Given the description of an element on the screen output the (x, y) to click on. 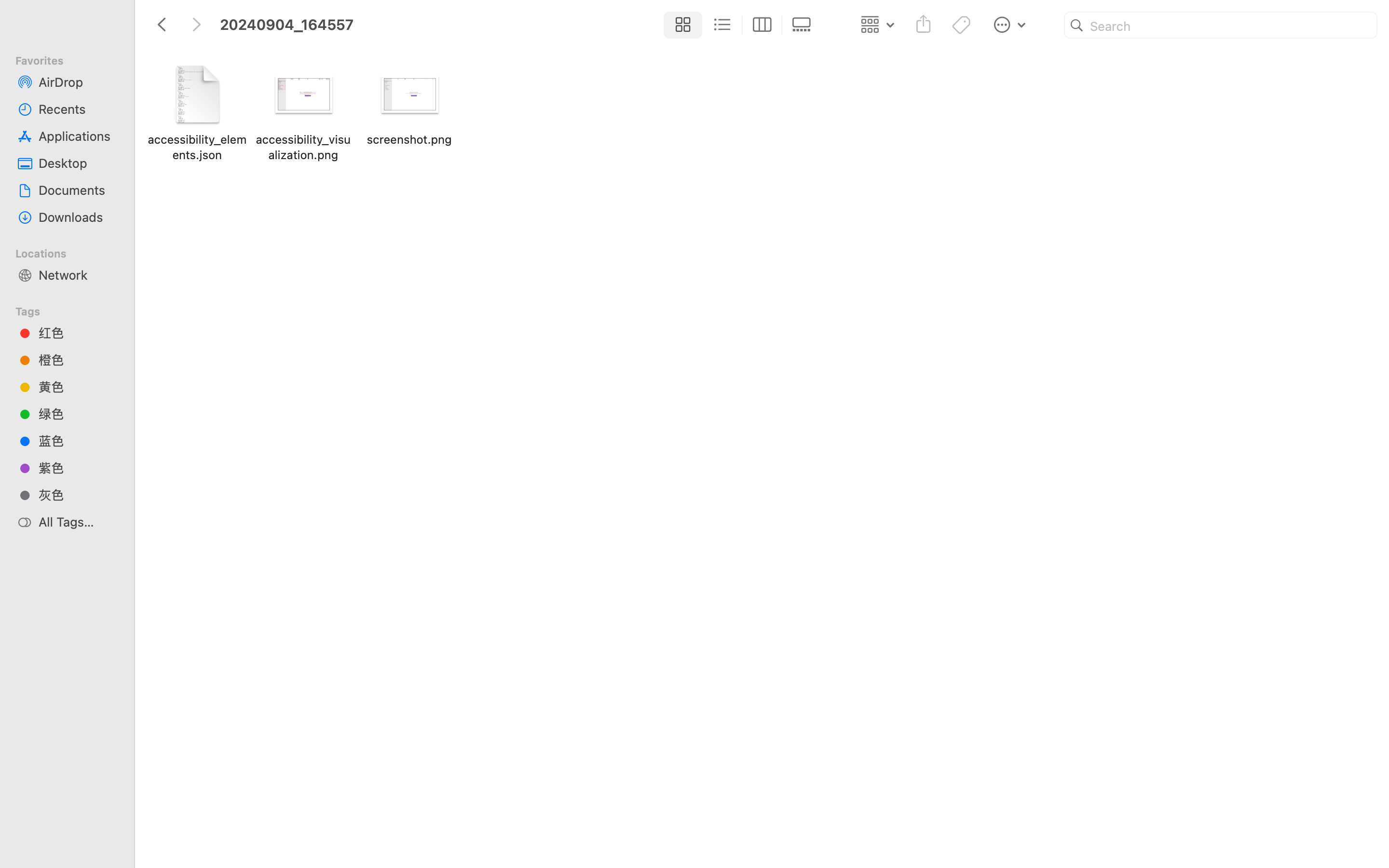
紫色 Element type: AXStaticText (77, 467)
Tags Element type: AXStaticText (72, 309)
灰色 Element type: AXStaticText (77, 494)
红色 Element type: AXStaticText (77, 332)
Network Element type: AXStaticText (77, 274)
